Given the description of an element on the screen output the (x, y) to click on. 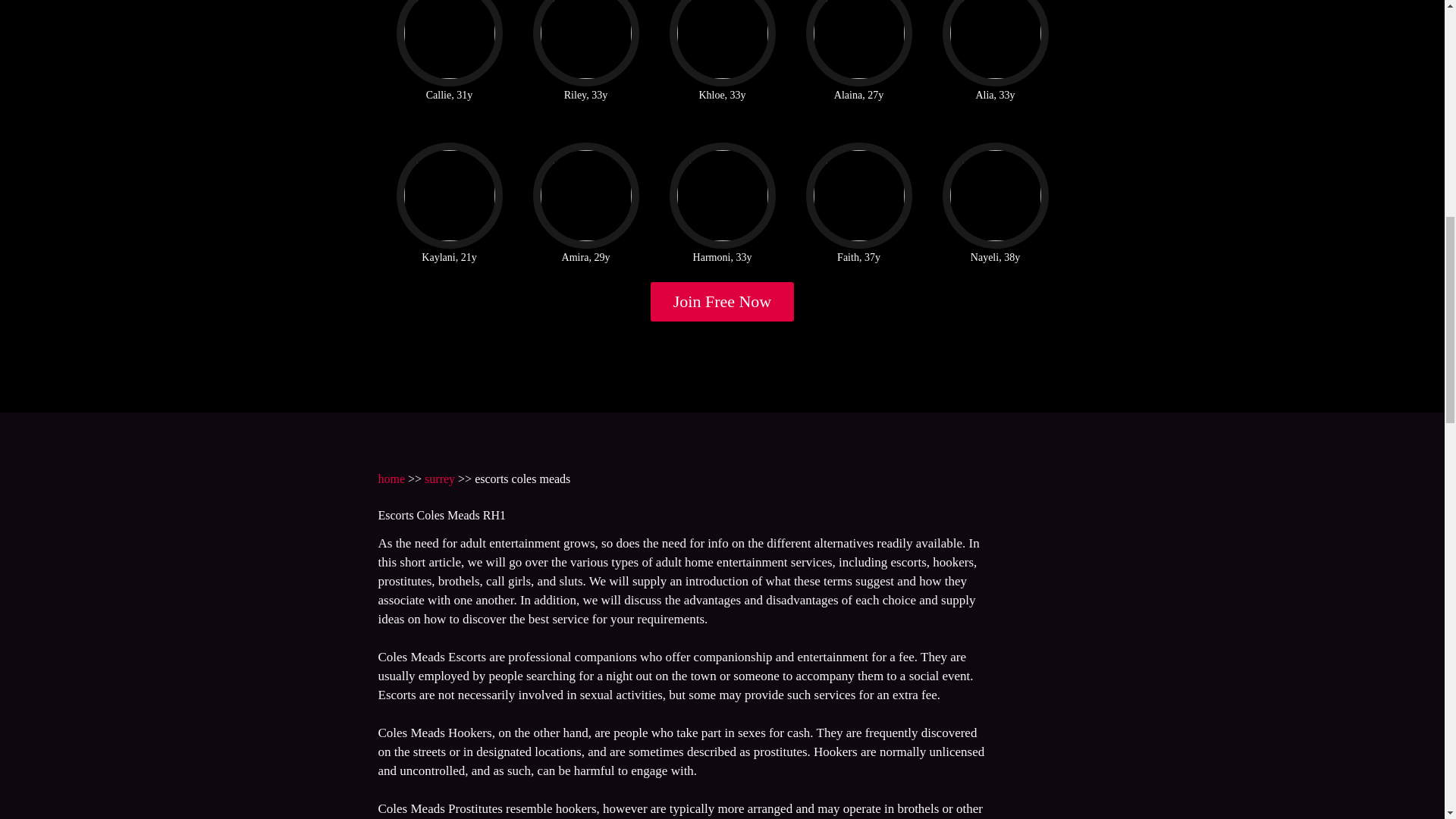
Join Free Now (722, 301)
surrey (439, 478)
Join (722, 301)
home (390, 478)
